Given the description of an element on the screen output the (x, y) to click on. 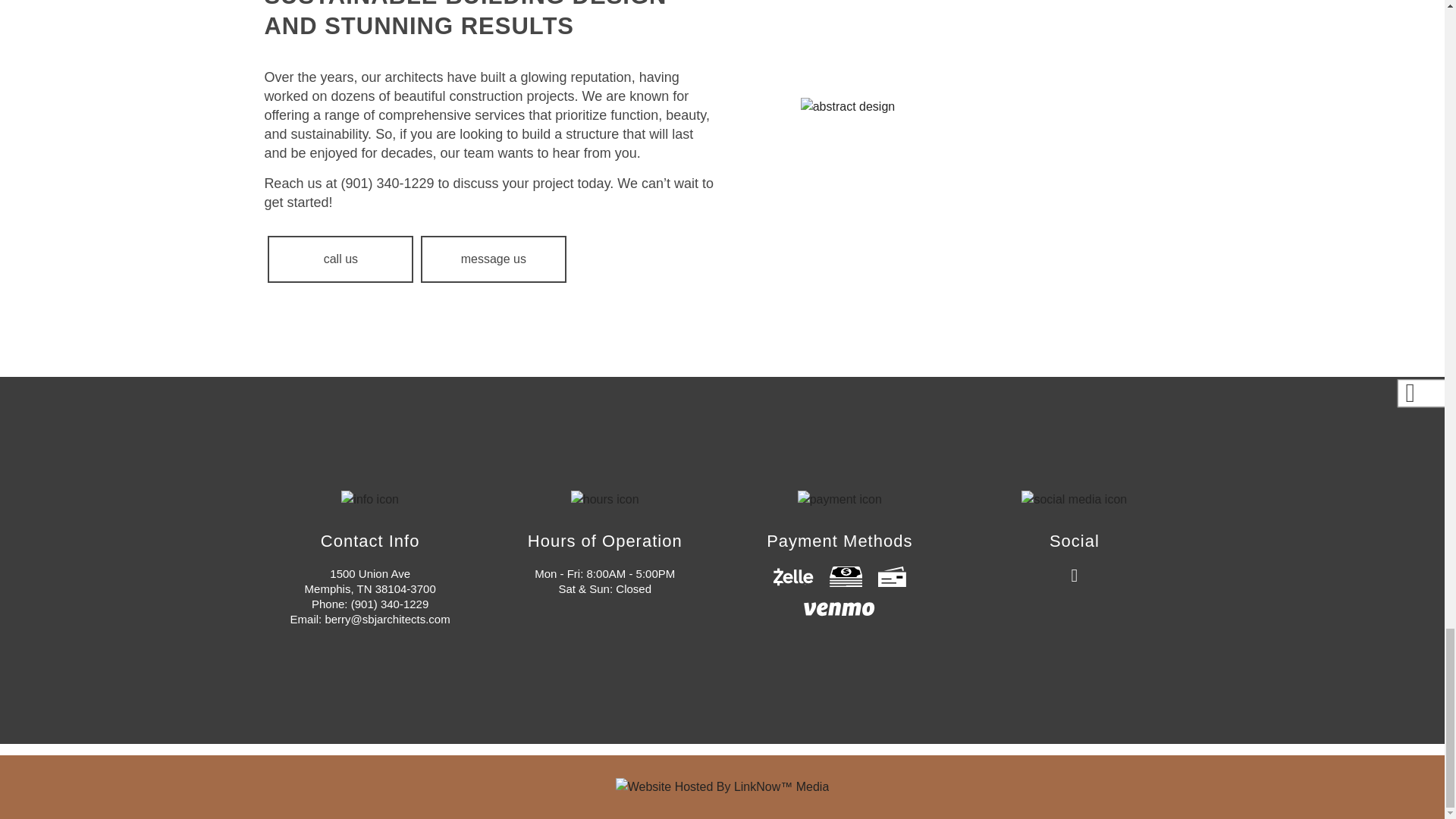
Message Us (493, 258)
